Given the description of an element on the screen output the (x, y) to click on. 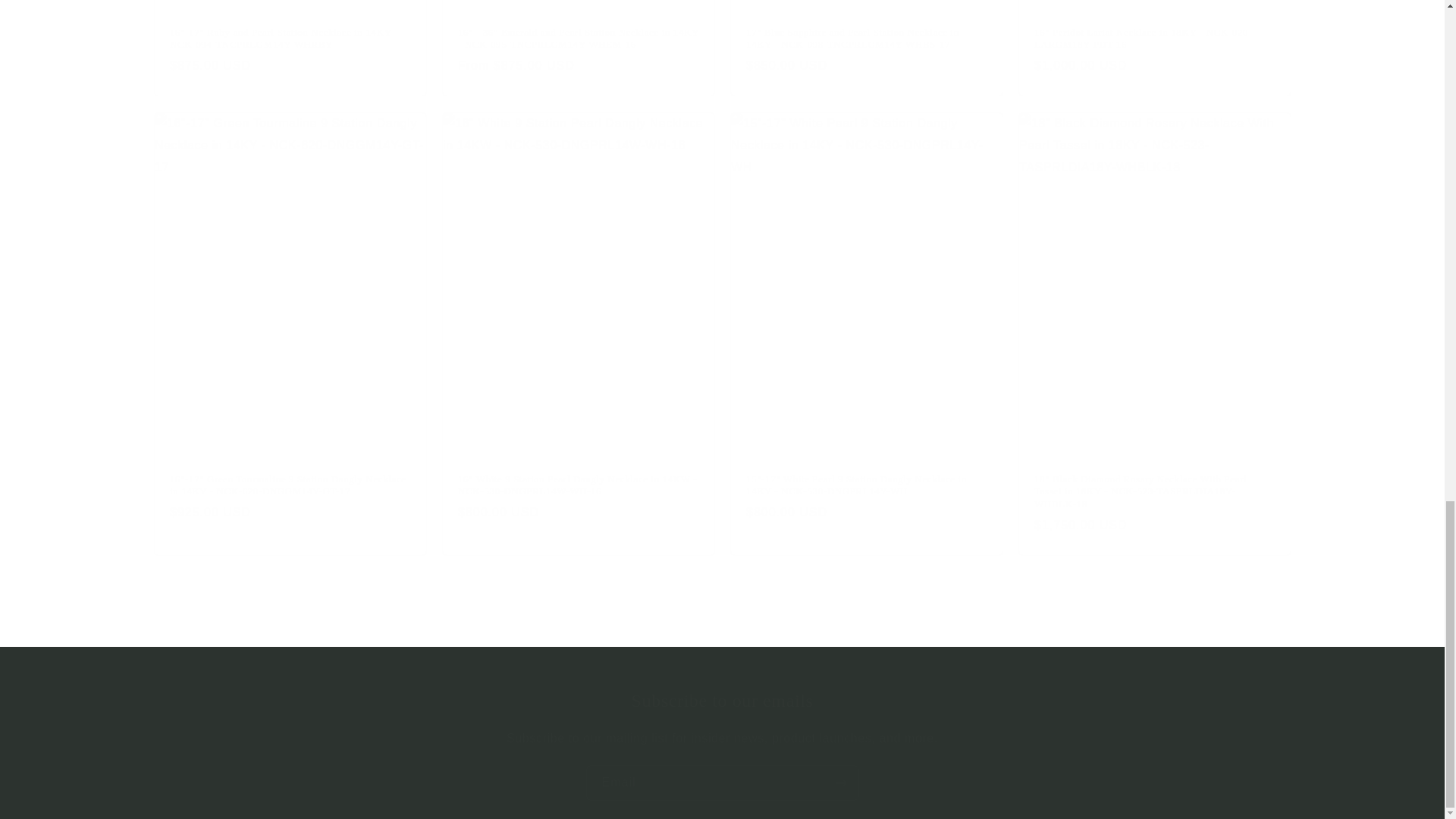
Subscribe to our emails (721, 700)
Email (722, 782)
